Given the description of an element on the screen output the (x, y) to click on. 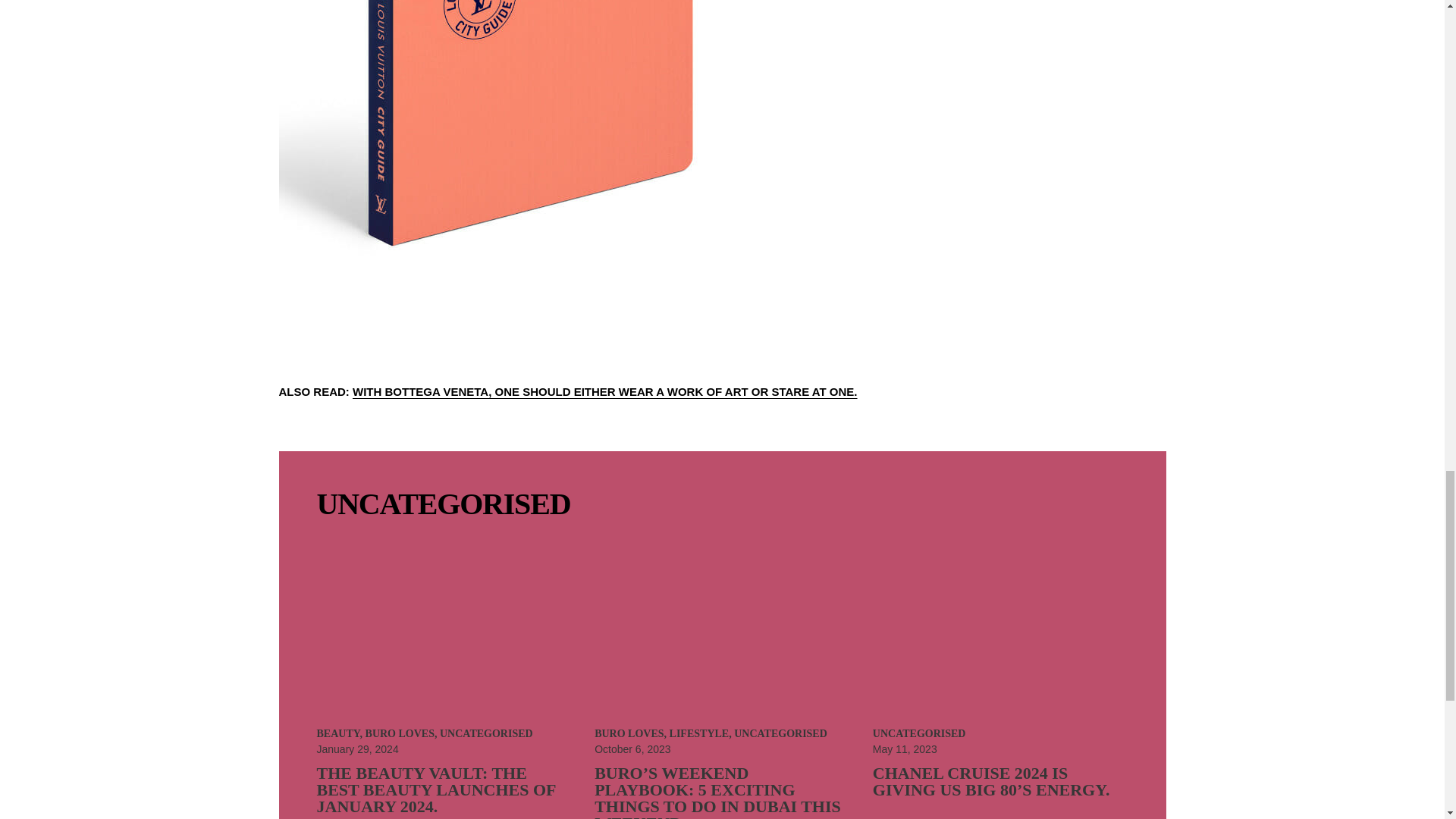
THE BEAUTY VAULT: THE BEST BEAUTY LAUNCHES OF JANUARY 2024. (436, 789)
BURO LOVES (399, 733)
UNCATEGORISED (443, 503)
BEAUTY (338, 733)
UNCATEGORISED (485, 733)
